Given the description of an element on the screen output the (x, y) to click on. 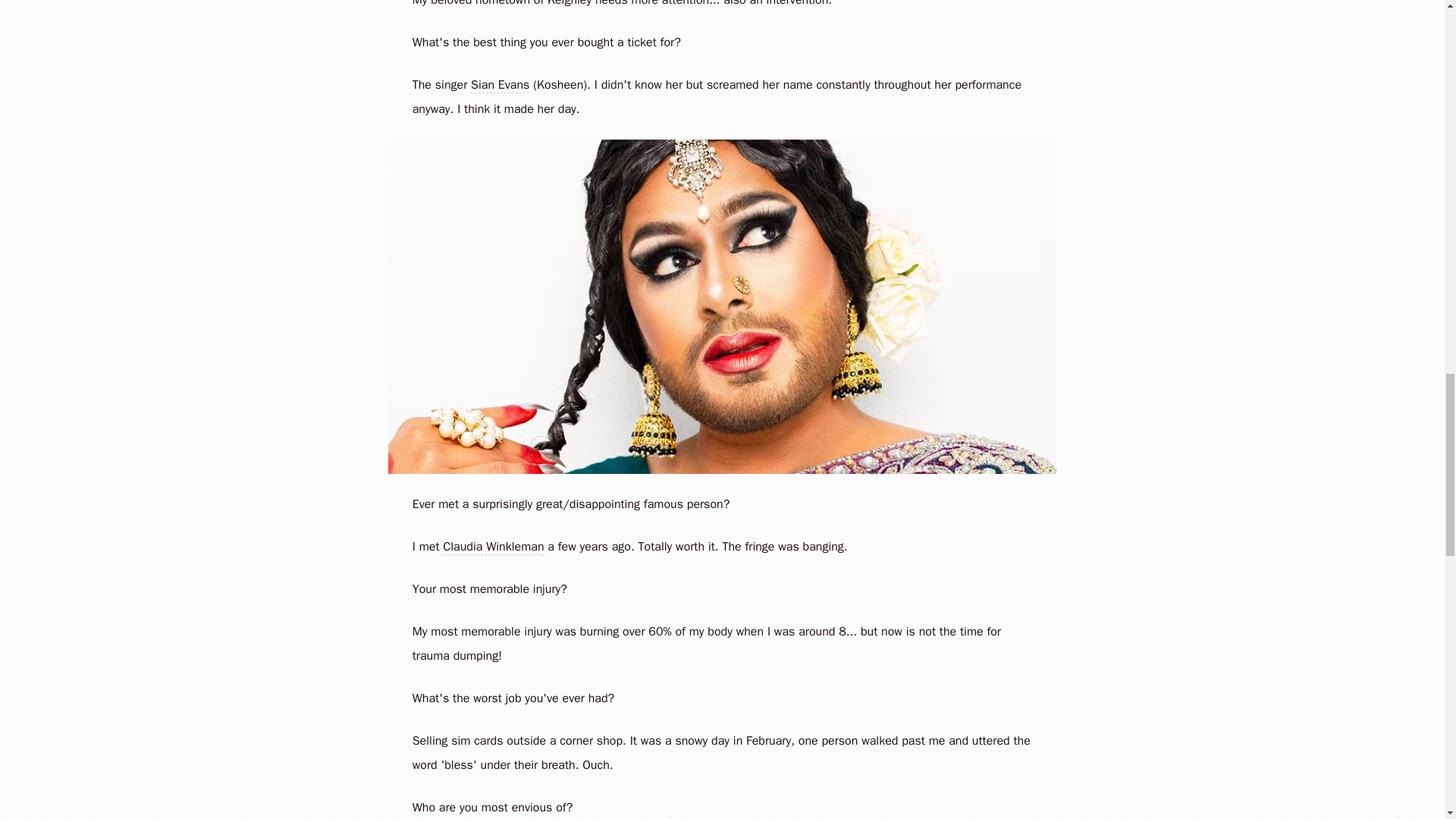
Sian Evans (499, 84)
Claudia Winkleman profile (492, 546)
Sian Evans profile (499, 84)
Claudia Winkleman (492, 546)
